Given the description of an element on the screen output the (x, y) to click on. 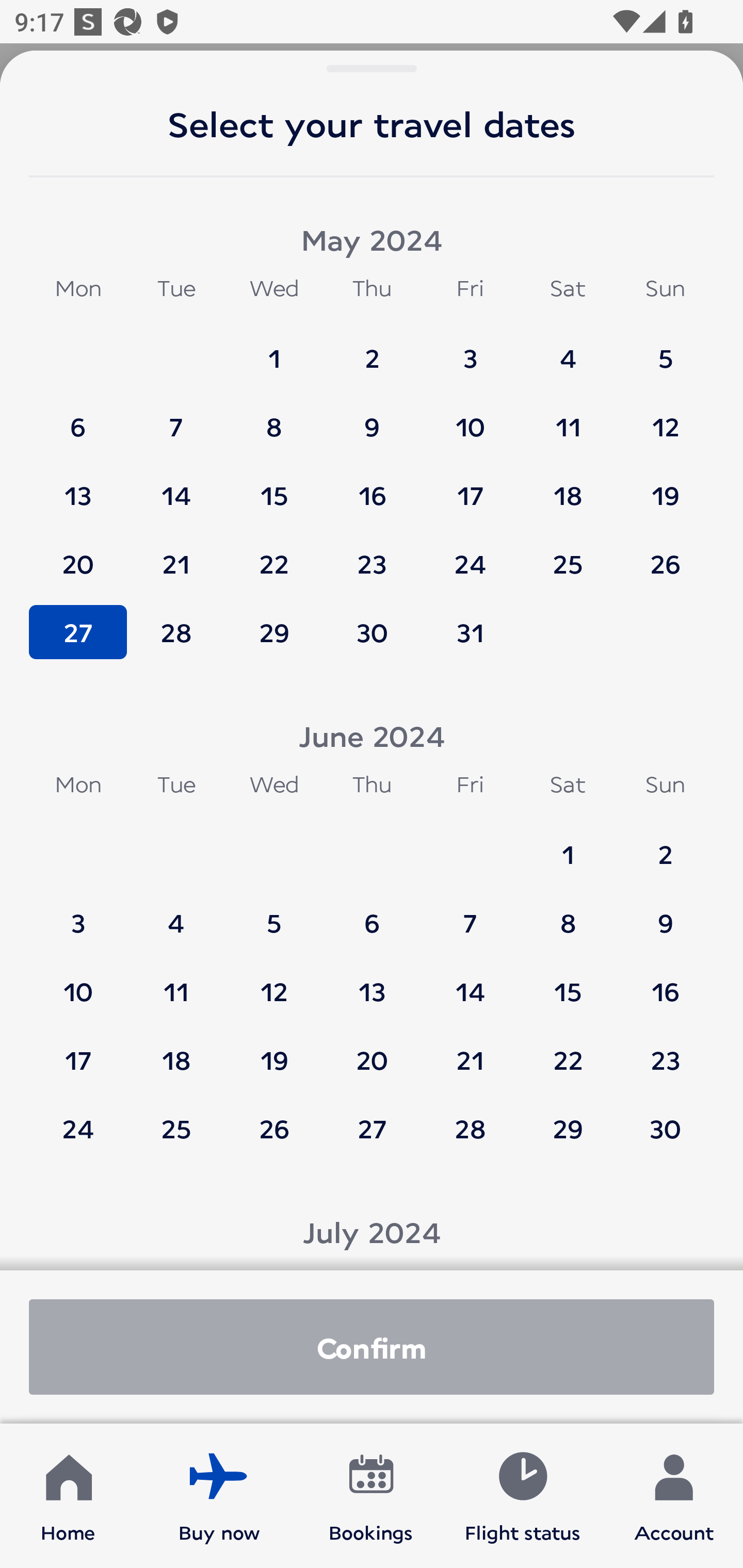
1 (274, 348)
2 (372, 348)
3 (470, 348)
4 (567, 348)
5 (665, 348)
6 (77, 416)
7 (176, 416)
8 (274, 416)
9 (372, 416)
10 (470, 416)
11 (567, 416)
12 (665, 416)
13 (77, 485)
14 (176, 485)
15 (274, 485)
16 (372, 485)
17 (470, 485)
18 (567, 485)
19 (665, 485)
20 (77, 554)
21 (176, 554)
22 (274, 554)
23 (372, 554)
24 (470, 554)
25 (567, 554)
26 (665, 554)
27 (77, 632)
28 (176, 632)
29 (274, 632)
30 (372, 632)
31 (470, 632)
1 (567, 844)
2 (665, 844)
3 (77, 913)
4 (176, 913)
5 (274, 913)
6 (372, 913)
7 (470, 913)
8 (567, 913)
9 (665, 913)
10 (77, 982)
11 (176, 982)
12 (274, 982)
13 (372, 982)
14 (470, 982)
15 (567, 982)
16 (665, 982)
17 (77, 1050)
18 (176, 1050)
19 (274, 1050)
20 (372, 1050)
21 (470, 1050)
22 (567, 1050)
23 (665, 1050)
24 (77, 1128)
25 (176, 1128)
26 (274, 1128)
27 (372, 1128)
28 (470, 1128)
29 (567, 1128)
30 (665, 1128)
Confirm (371, 1346)
Home (68, 1495)
Bookings (370, 1495)
Flight status (522, 1495)
Account (674, 1495)
